Given the description of an element on the screen output the (x, y) to click on. 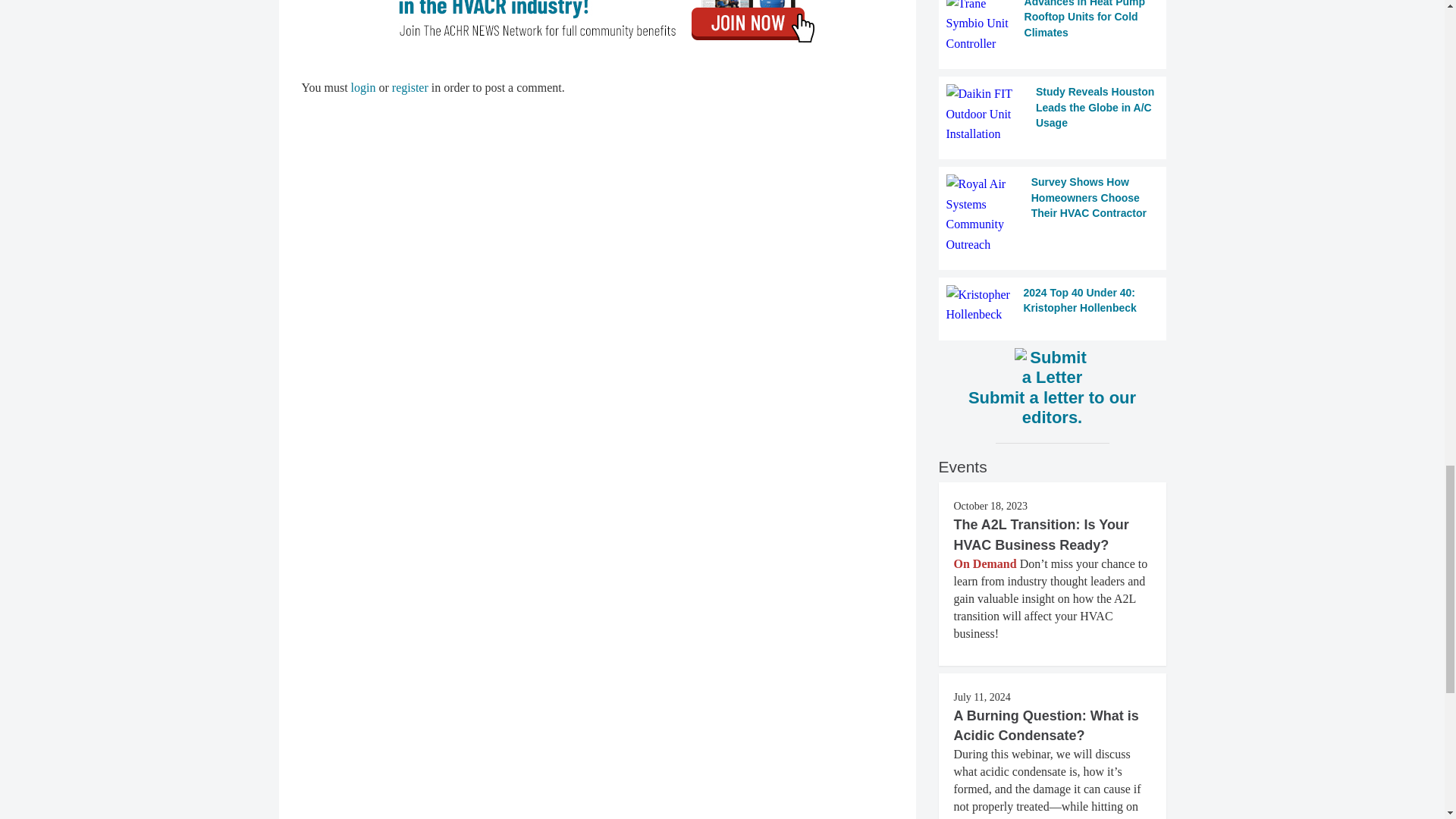
A Burning Question: What is Acidic Condensate? (1045, 725)
The A2L Transition: Is Your HVAC Business Ready? (1041, 534)
Survey Shows How Homeowners Choose Their HVAC Contractor (1052, 214)
Advances in Heat Pump Rooftop Units for Cold Climates (1052, 27)
2024 Top 40 Under 40: Kristopher Hollenbeck (1052, 305)
